Given the description of an element on the screen output the (x, y) to click on. 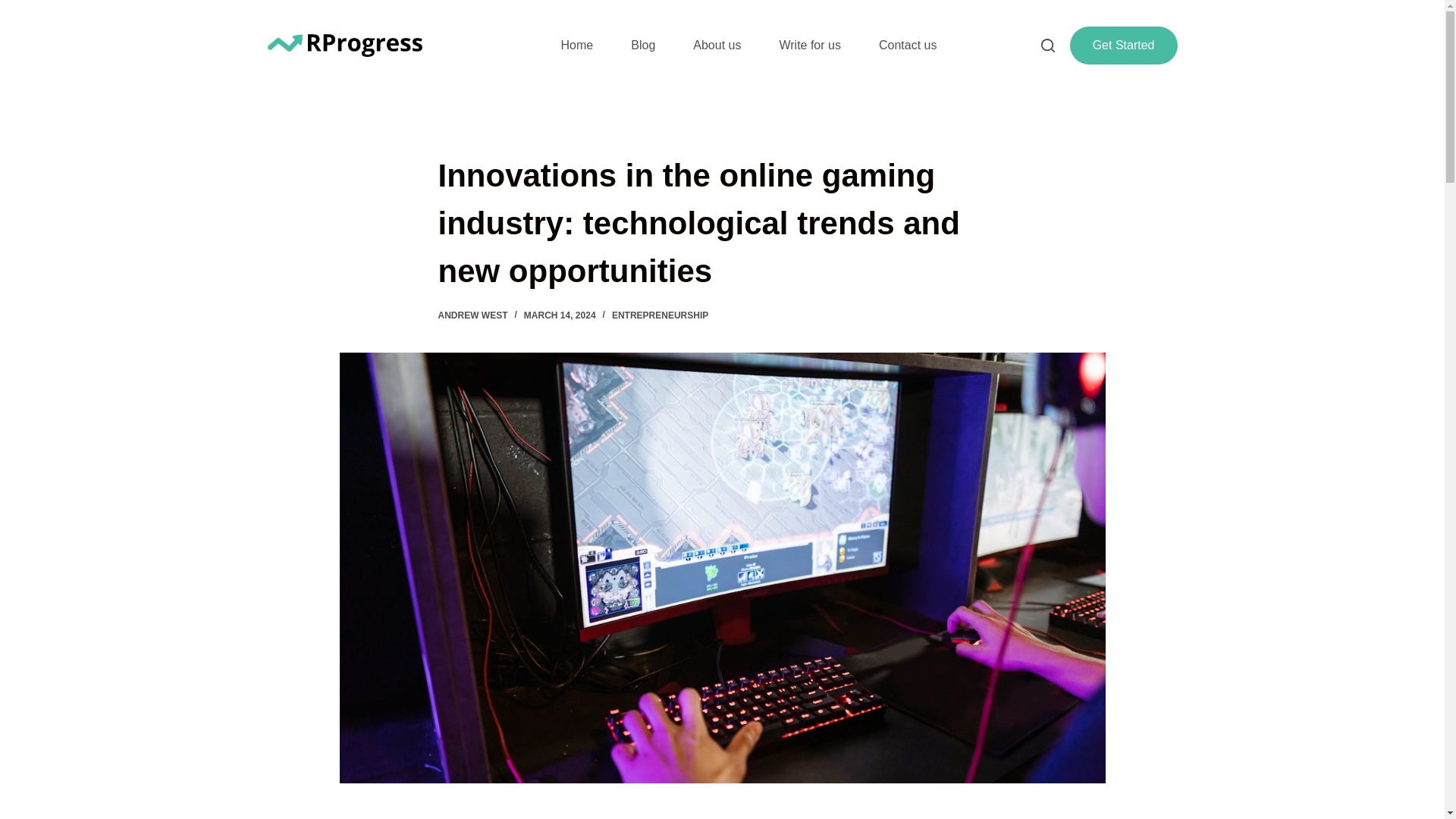
Skip to content (15, 7)
Blog (642, 45)
Posts by Andrew West (473, 315)
Get Started (1123, 45)
Write for us (810, 45)
Home (576, 45)
Contact us (907, 45)
About us (717, 45)
ENTREPRENEURSHIP (659, 315)
